Given the description of an element on the screen output the (x, y) to click on. 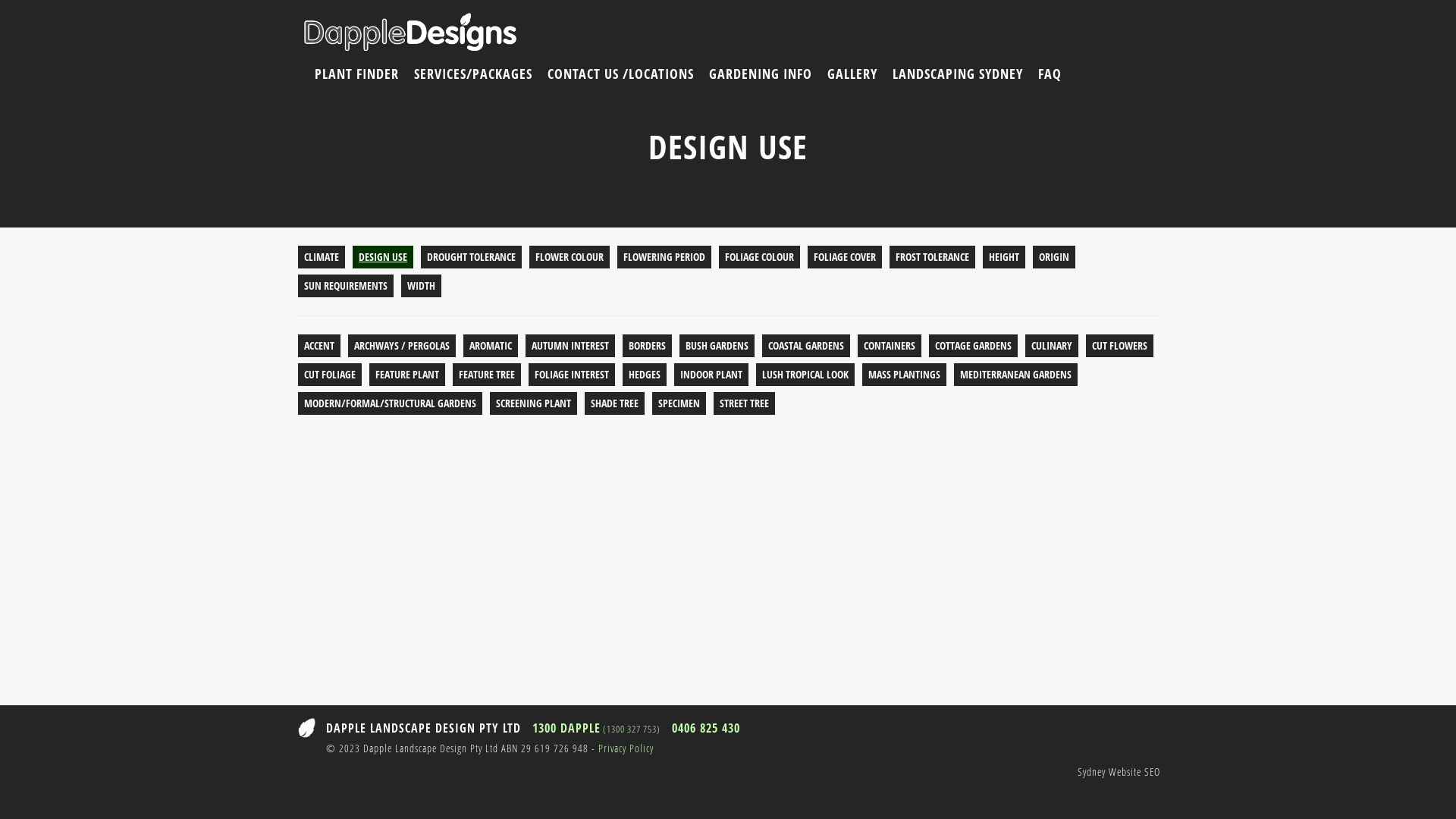
FAQ Element type: text (1049, 73)
FOLIAGE COVER Element type: text (844, 256)
ARCHWAYS / PERGOLAS Element type: text (401, 345)
MASS PLANTINGS Element type: text (904, 374)
AUTUMN INTEREST Element type: text (570, 345)
FEATURE TREE Element type: text (486, 374)
BUSH GARDENS Element type: text (716, 345)
COTTAGE GARDENS Element type: text (972, 345)
FOLIAGE COLOUR Element type: text (759, 256)
Dapple Landscape Design Element type: text (409, 31)
FROST TOLERANCE Element type: text (932, 256)
HEIGHT Element type: text (1003, 256)
0406 825 430 Element type: text (705, 727)
MEDITERRANEAN GARDENS Element type: text (1015, 374)
ORIGIN Element type: text (1053, 256)
SUN REQUIREMENTS Element type: text (345, 285)
Sydney Website SEO Element type: text (1118, 771)
HEDGES Element type: text (644, 374)
ACCENT Element type: text (319, 345)
AROMATIC Element type: text (490, 345)
CONTACT US /LOCATIONS Element type: text (620, 73)
LUSH TROPICAL LOOK Element type: text (805, 374)
GARDENING INFO Element type: text (760, 73)
PLANT FINDER Element type: text (356, 73)
FOLIAGE INTEREST Element type: text (571, 374)
DESIGN USE Element type: text (382, 256)
FLOWER COLOUR Element type: text (569, 256)
GALLERY Element type: text (851, 73)
FEATURE PLANT Element type: text (407, 374)
BORDERS Element type: text (646, 345)
FLOWERING PERIOD Element type: text (664, 256)
Privacy Policy Element type: text (625, 747)
1300 DAPPLE (1300 327 753) Element type: text (596, 727)
WIDTH Element type: text (421, 285)
INDOOR PLANT Element type: text (711, 374)
SCREENING PLANT Element type: text (533, 403)
CUT FLOWERS Element type: text (1119, 345)
CONTAINERS Element type: text (889, 345)
SHADE TREE Element type: text (614, 403)
STREET TREE Element type: text (744, 403)
CUT FOLIAGE Element type: text (329, 374)
MODERN/FORMAL/STRUCTURAL GARDENS Element type: text (390, 403)
COASTAL GARDENS Element type: text (806, 345)
CULINARY Element type: text (1051, 345)
SERVICES/PACKAGES Element type: text (472, 73)
SPECIMEN Element type: text (679, 403)
LANDSCAPING SYDNEY Element type: text (957, 73)
CLIMATE Element type: text (321, 256)
DROUGHT TOLERANCE Element type: text (470, 256)
